Given the description of an element on the screen output the (x, y) to click on. 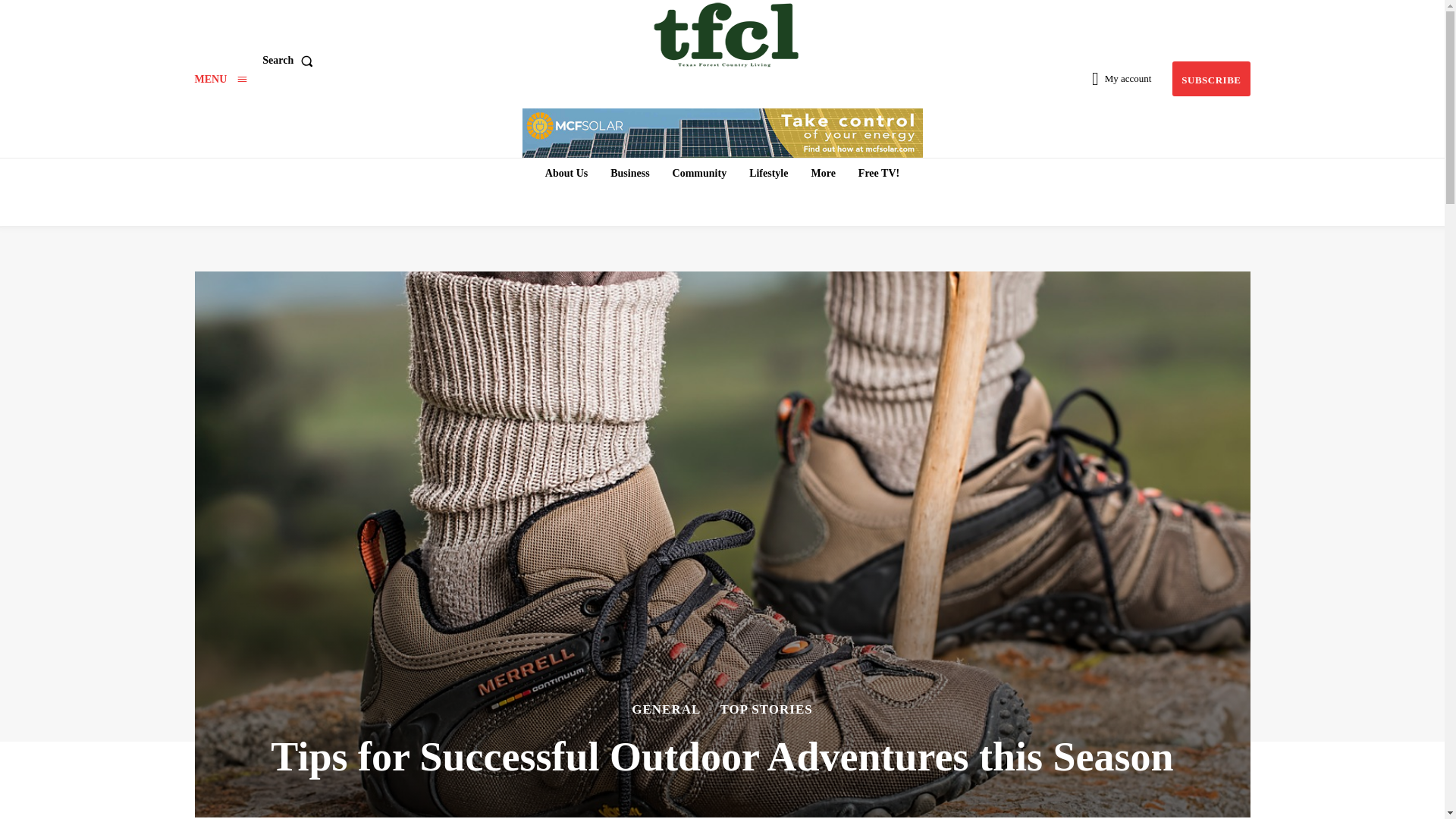
Subscribe (1210, 79)
Menu (220, 78)
MENU (220, 78)
SUBSCRIBE (1210, 79)
About Us (566, 173)
Search (290, 60)
